Given the description of an element on the screen output the (x, y) to click on. 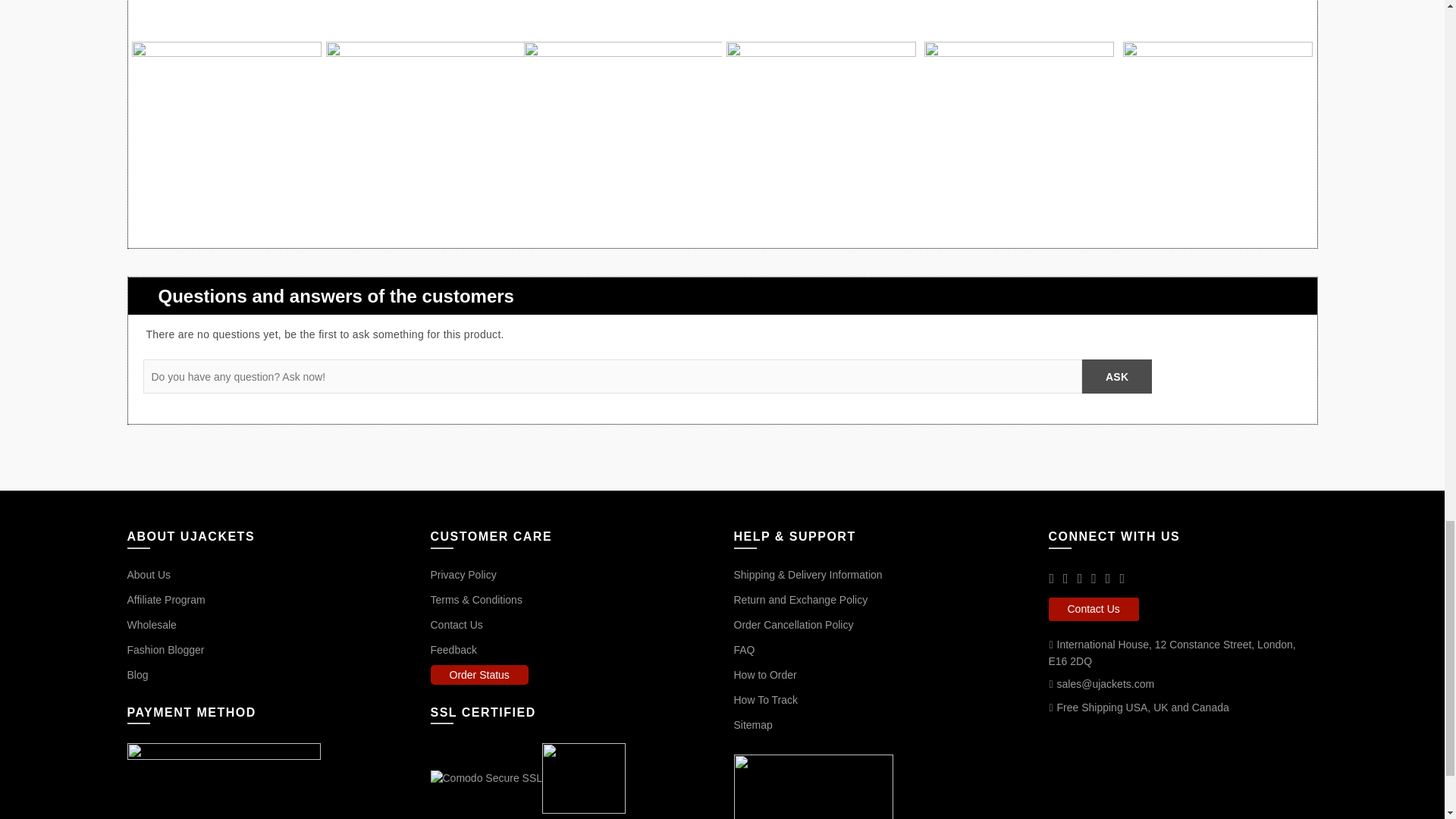
Ask (1116, 376)
Ask your question (1116, 376)
